Given the description of an element on the screen output the (x, y) to click on. 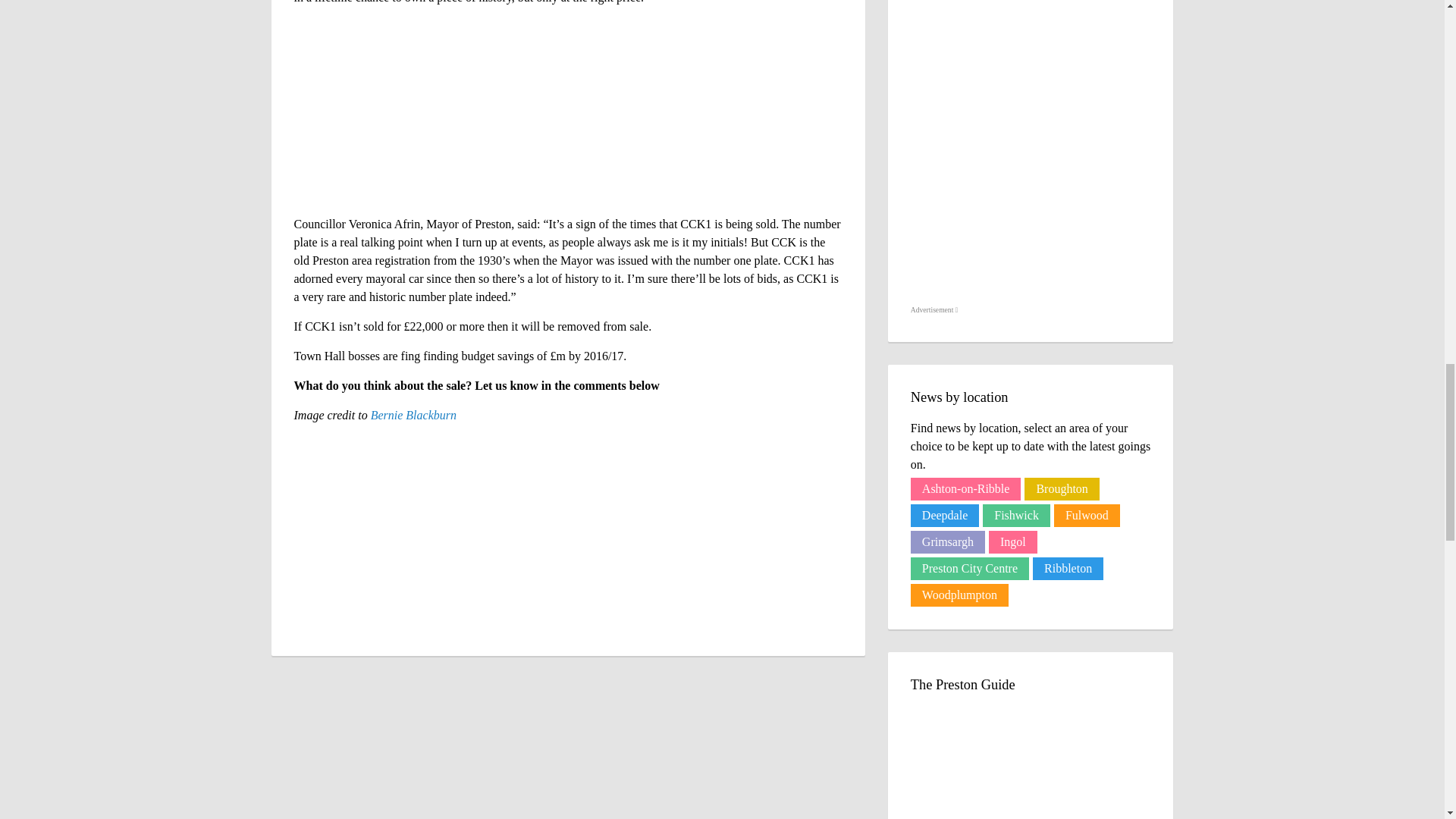
Advertisement (934, 310)
Bernie Blackburn (414, 414)
